Given the description of an element on the screen output the (x, y) to click on. 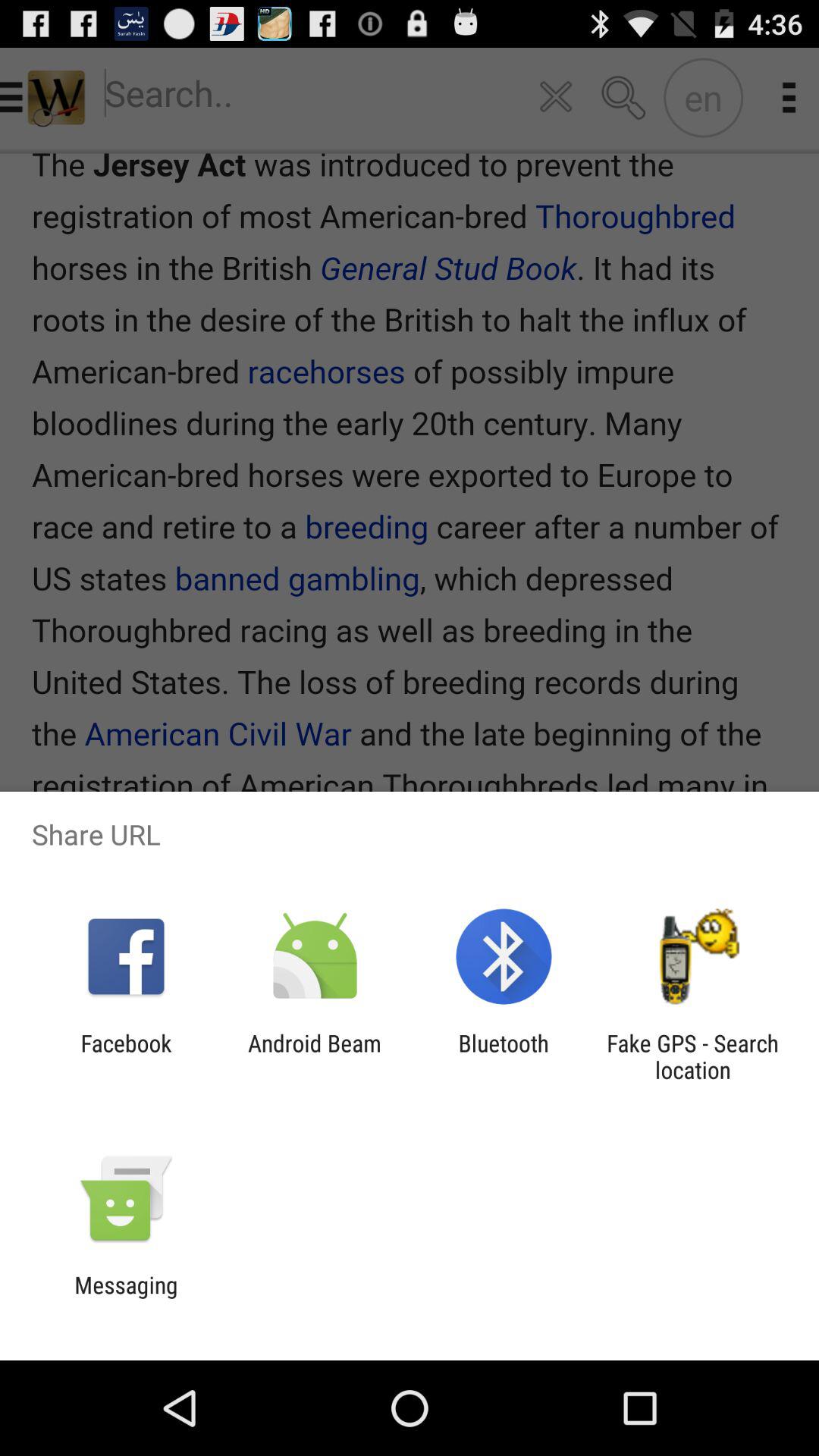
launch bluetooth (503, 1056)
